Given the description of an element on the screen output the (x, y) to click on. 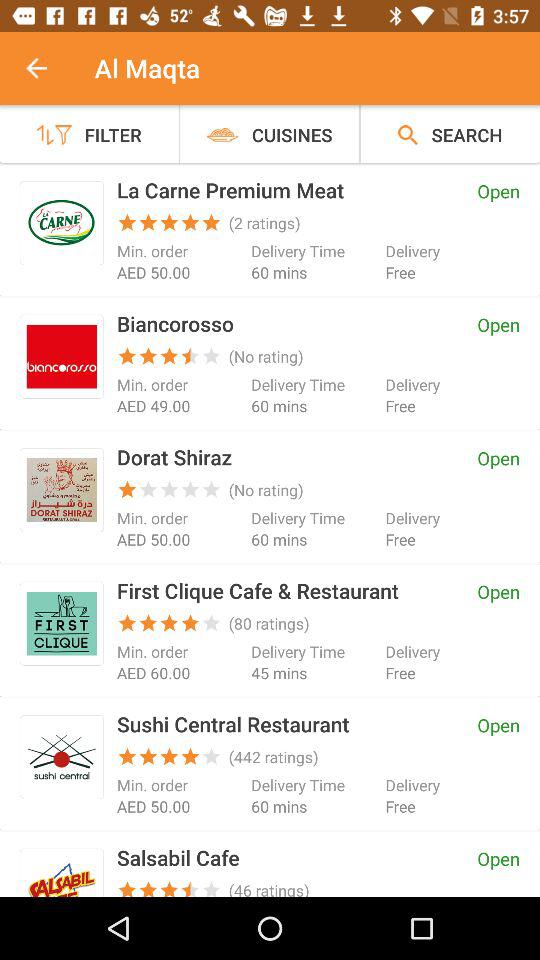
open article (61, 356)
